Given the description of an element on the screen output the (x, y) to click on. 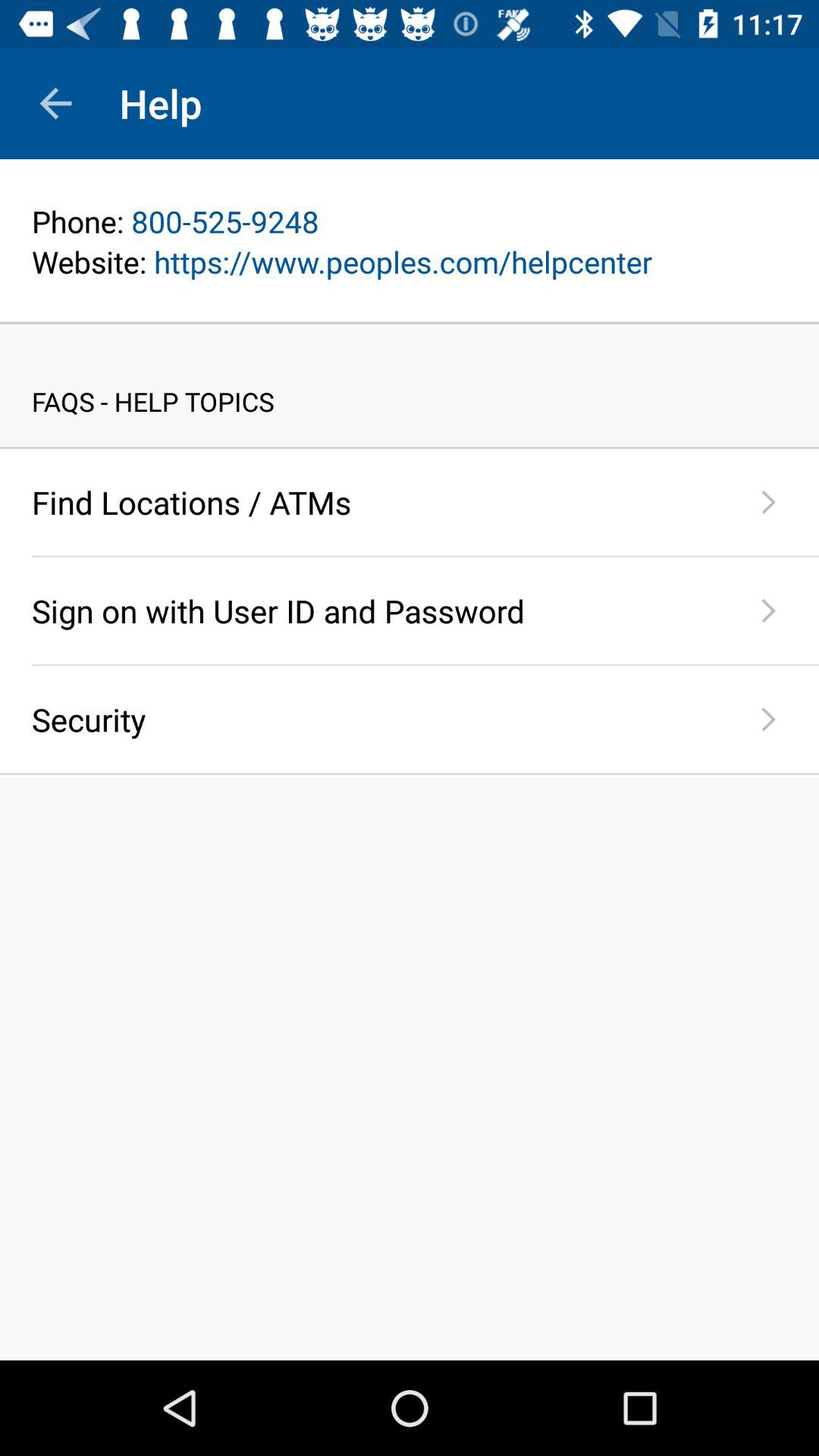
flip until the faqs - help topics icon (409, 385)
